Given the description of an element on the screen output the (x, y) to click on. 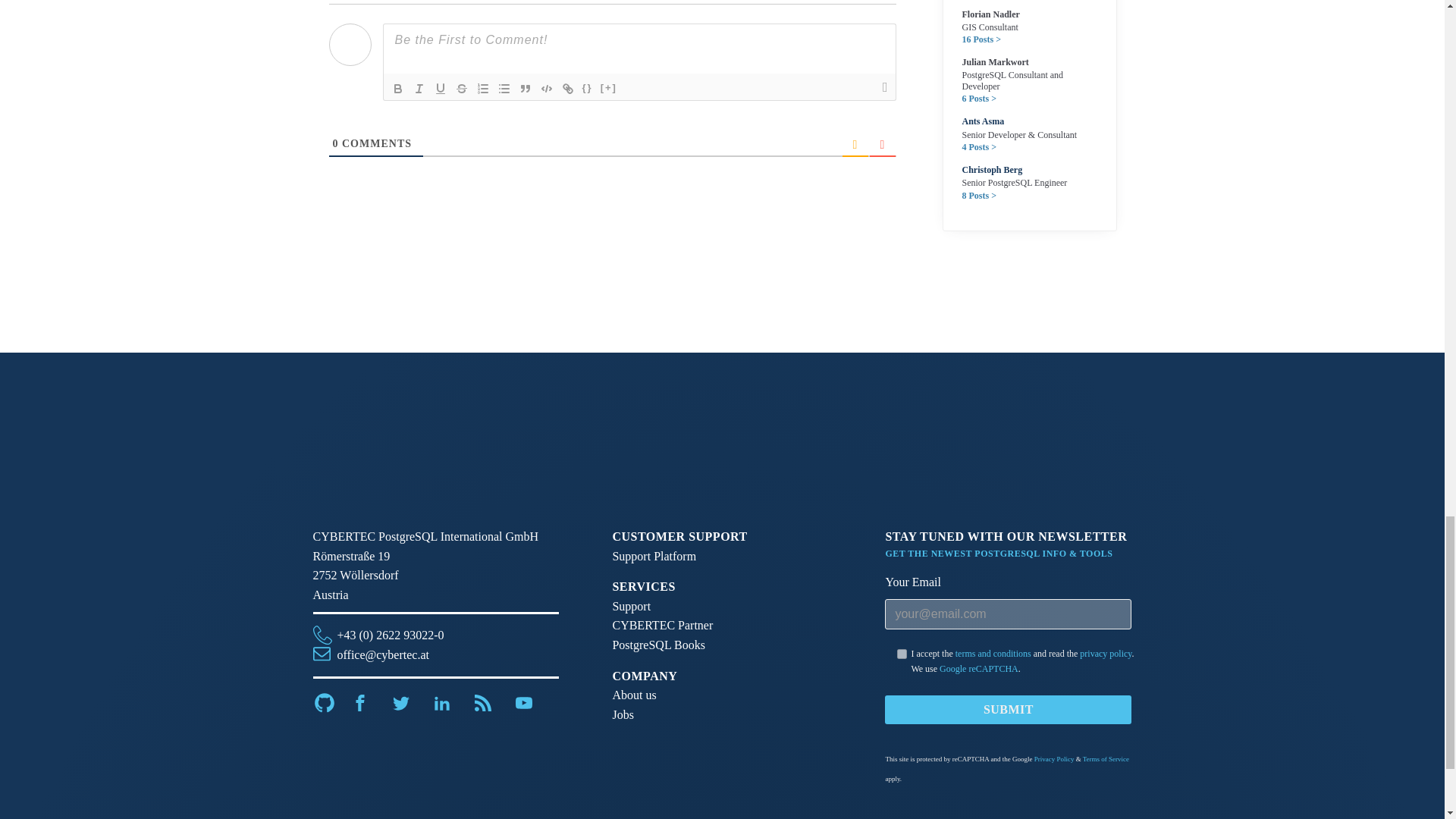
Ordered List (482, 88)
Strike (460, 88)
Bold (397, 88)
Submit (1008, 709)
Italic (418, 88)
Source Code (586, 88)
Underline (439, 88)
Link (567, 88)
Blockquote (524, 88)
Unordered List (503, 88)
Code Block (545, 88)
